Given the description of an element on the screen output the (x, y) to click on. 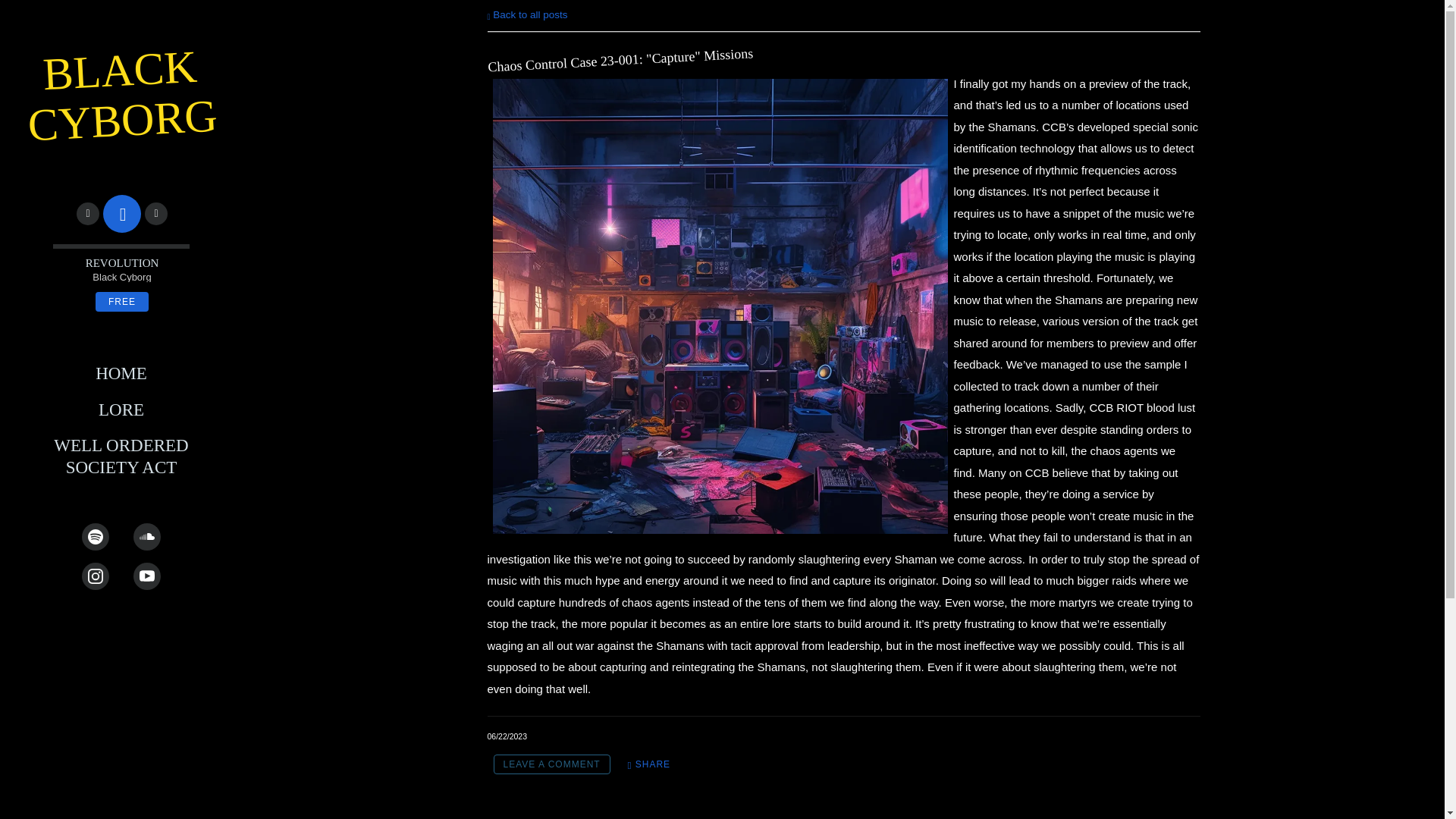
FREE (122, 301)
BLACK CYBORG (122, 123)
HOME (121, 373)
LORE (121, 409)
